Given the description of an element on the screen output the (x, y) to click on. 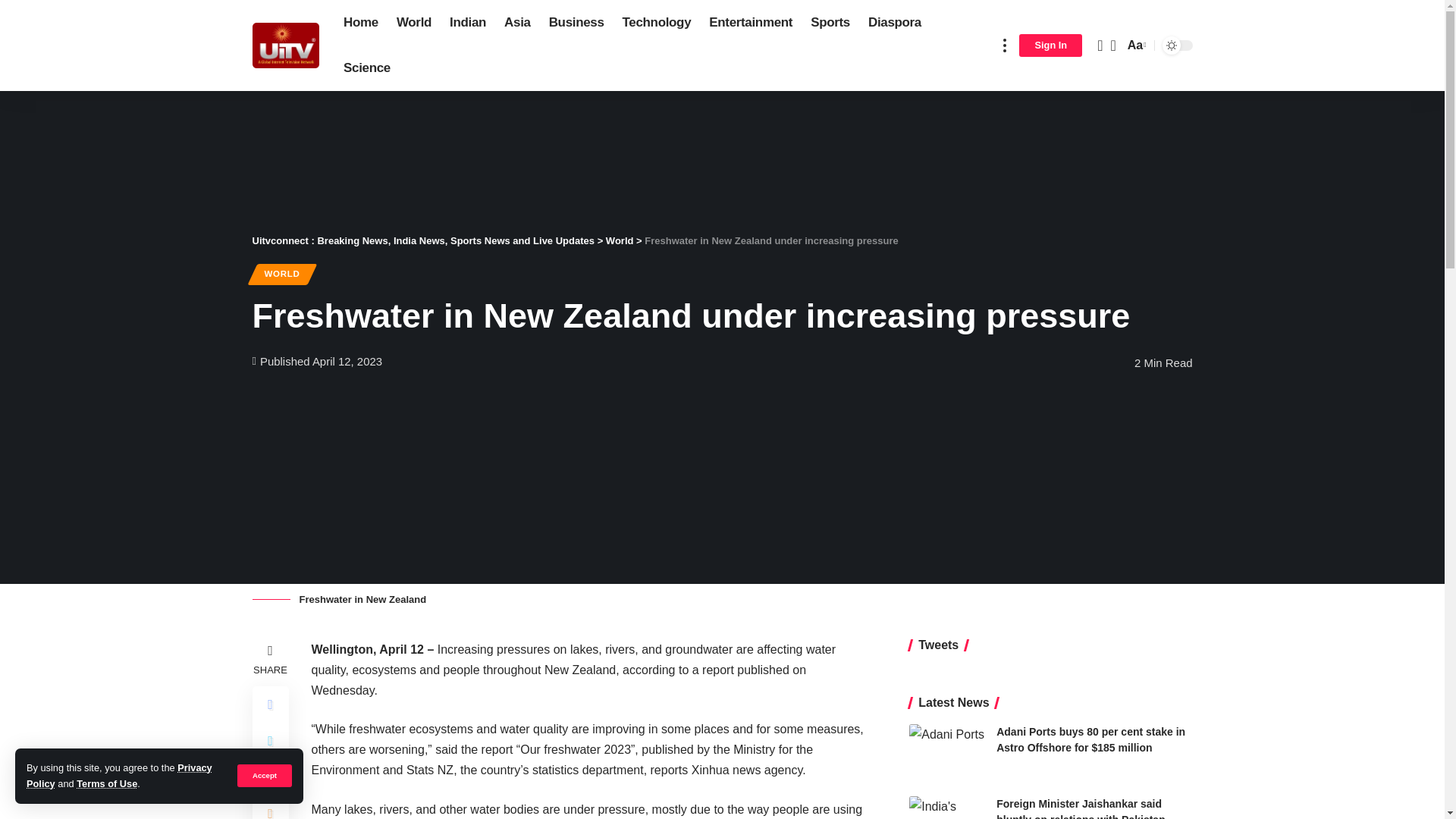
World (414, 22)
Asia (517, 22)
Technology (656, 22)
Indian (468, 22)
Science (366, 67)
Business (576, 22)
Privacy Policy (119, 775)
Entertainment (751, 22)
Go to the World Category archives. (619, 240)
